Given the description of an element on the screen output the (x, y) to click on. 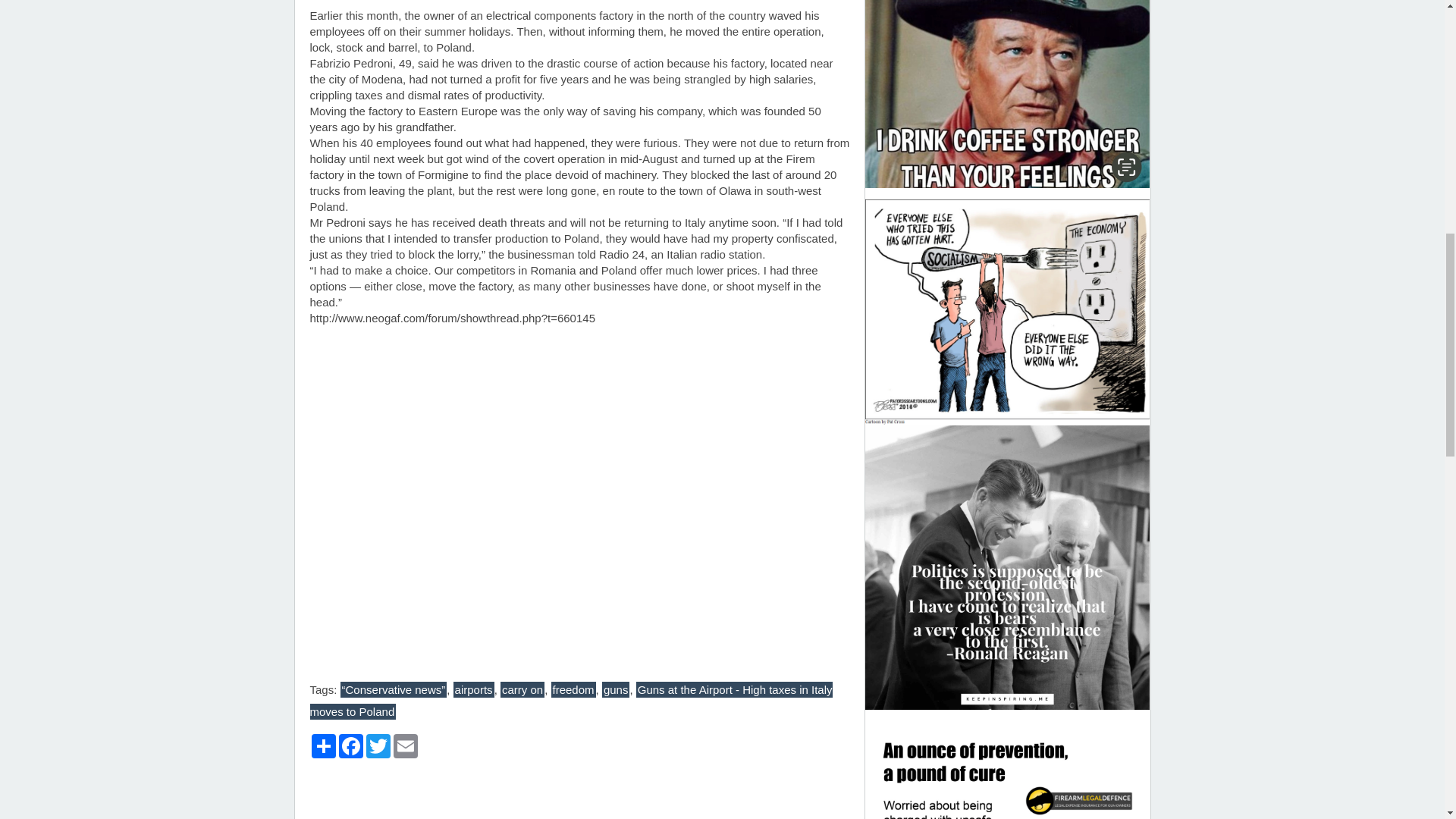
guns (616, 689)
Guns at the Airport - High taxes in Italy moves to Poland (569, 700)
freedom (572, 689)
Facebook (350, 745)
airports (473, 689)
carry on (522, 689)
